Given the description of an element on the screen output the (x, y) to click on. 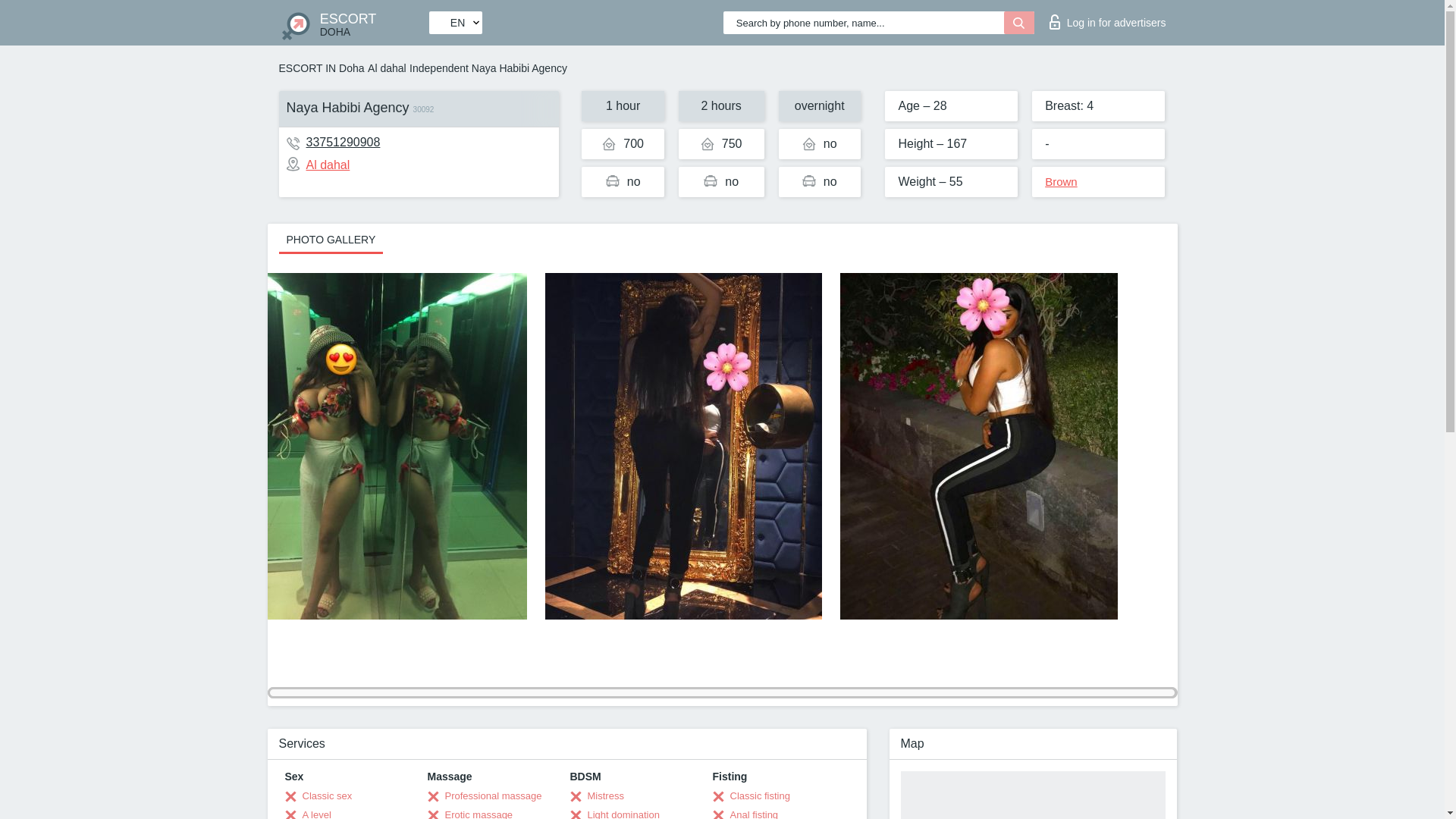
Brown (1061, 181)
Log in for advertisers (1107, 17)
33751290908 (342, 141)
A level (308, 813)
Professional massage (484, 795)
PHOTO GALLERY (331, 238)
Erotic massage (352, 22)
ESCORT IN Doha (470, 813)
Al dahal (322, 68)
Classic sex (318, 164)
Al dahal (318, 795)
